Given the description of an element on the screen output the (x, y) to click on. 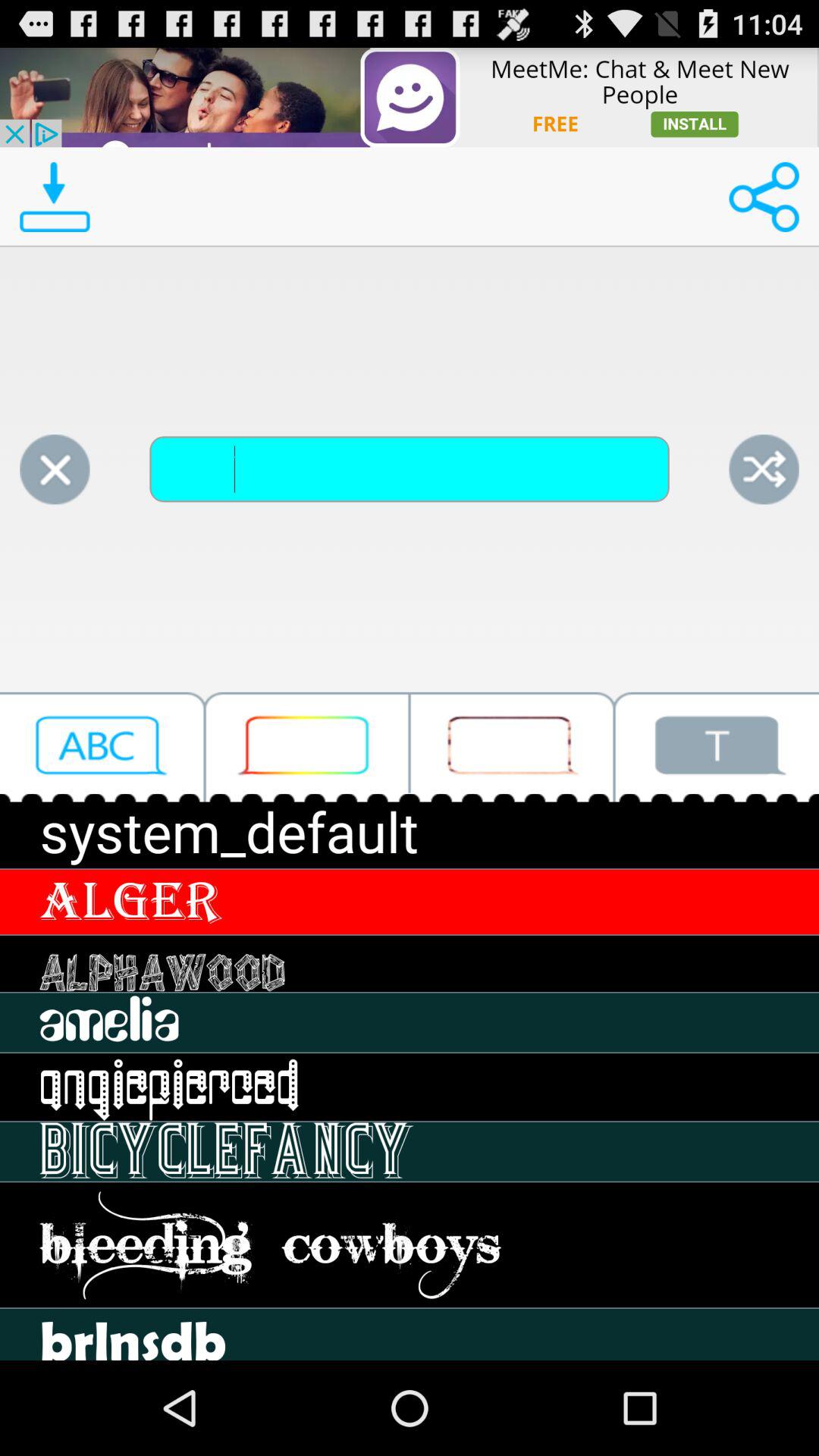
view blink option (511, 746)
